Given the description of an element on the screen output the (x, y) to click on. 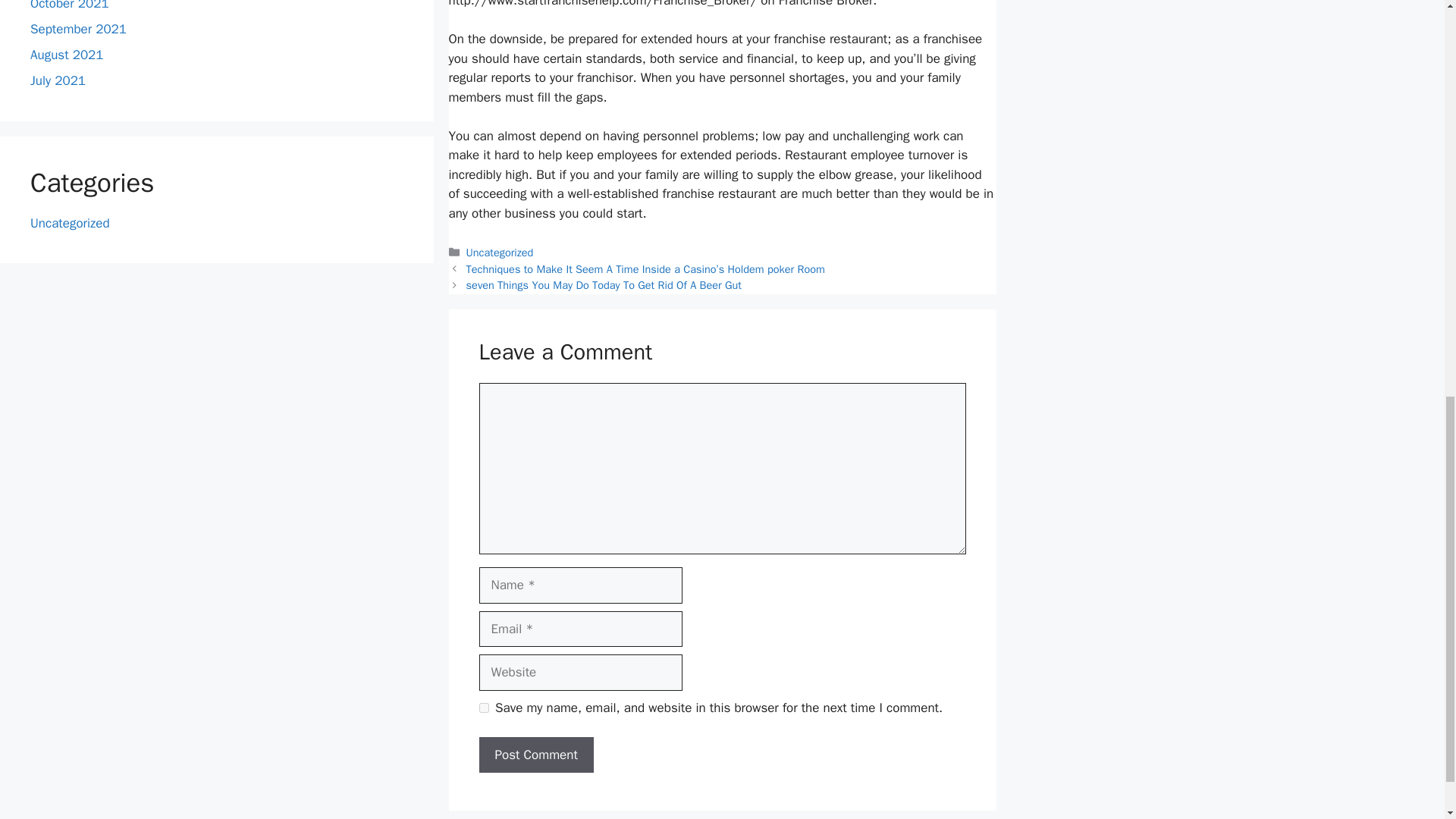
yes (484, 707)
September 2021 (78, 28)
Post Comment (536, 755)
Uncategorized (499, 252)
August 2021 (66, 54)
Post Comment (536, 755)
seven Things You May Do Today To Get Rid Of A Beer Gut (603, 284)
October 2021 (69, 5)
